Given the description of an element on the screen output the (x, y) to click on. 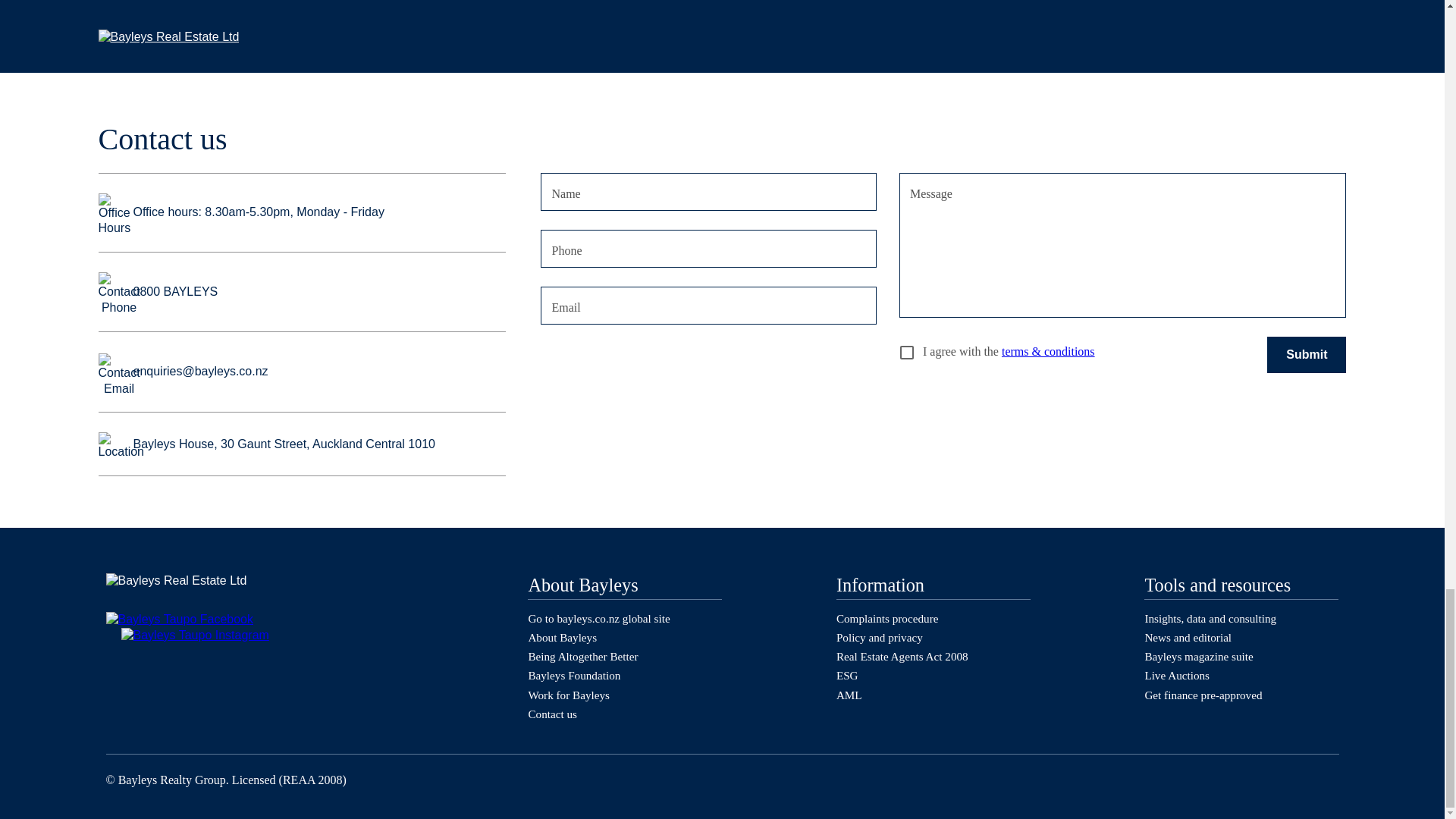
News and editorial (1187, 636)
Insights, data and consulting (1210, 617)
Real Estate Agents Act 2008 (901, 656)
Live Auctions (1176, 675)
Work for Bayleys (568, 694)
Being Altogether Better (582, 656)
About Bayleys (561, 636)
Complaints procedure (887, 617)
Bayleys magazine suite (1198, 656)
Get finance pre-approved (1203, 694)
ESG (847, 675)
Bayleys Foundation (573, 675)
AML (848, 694)
Policy and privacy (879, 636)
Go to bayleys.co.nz global site (598, 617)
